Given the description of an element on the screen output the (x, y) to click on. 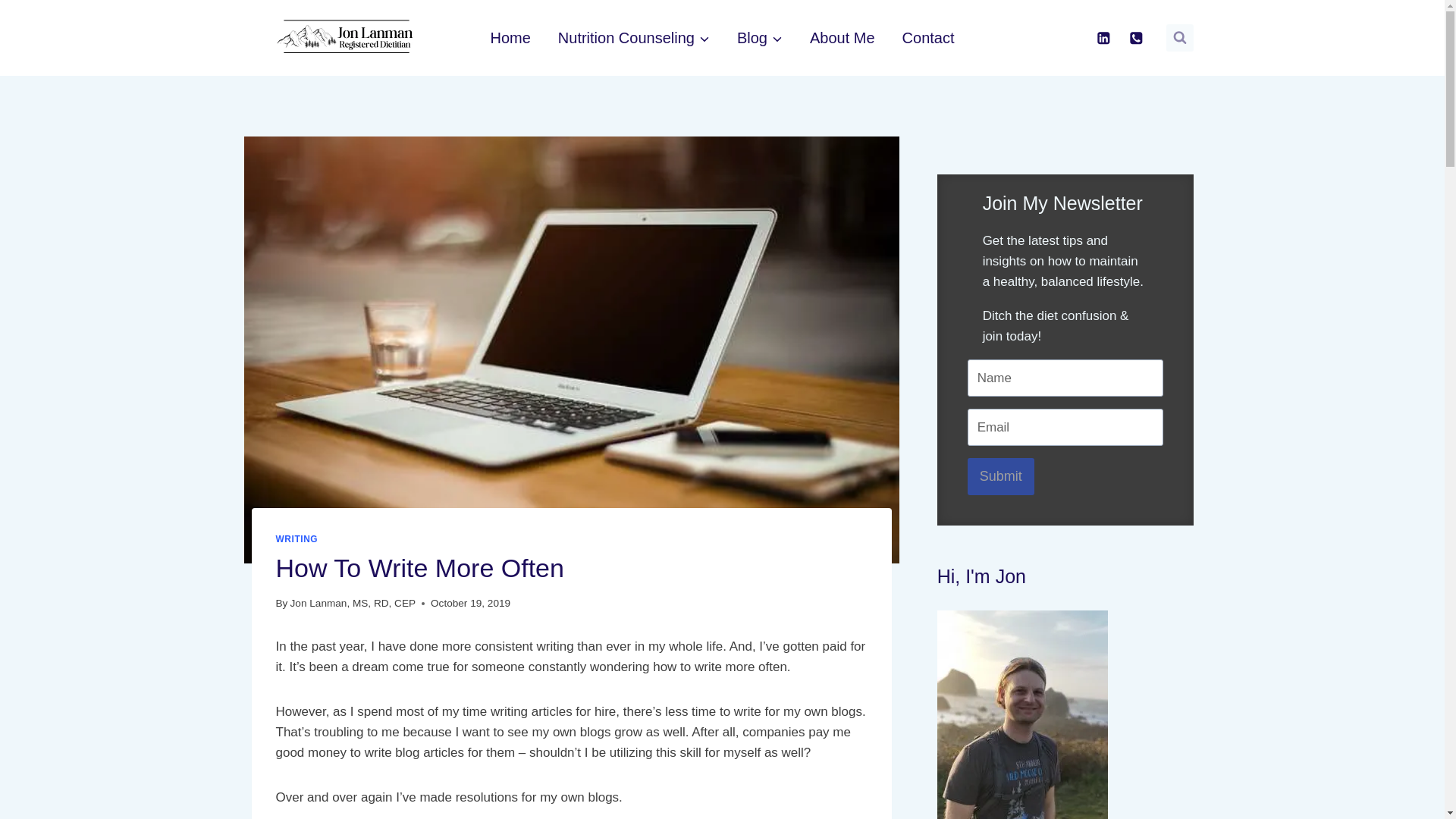
Nutrition Counseling (633, 37)
Jon Lanman, MS, RD, CEP (351, 603)
Contact (928, 37)
Home (509, 37)
Submit (1000, 475)
Blog (759, 37)
WRITING (297, 538)
About Me (842, 37)
